Given the description of an element on the screen output the (x, y) to click on. 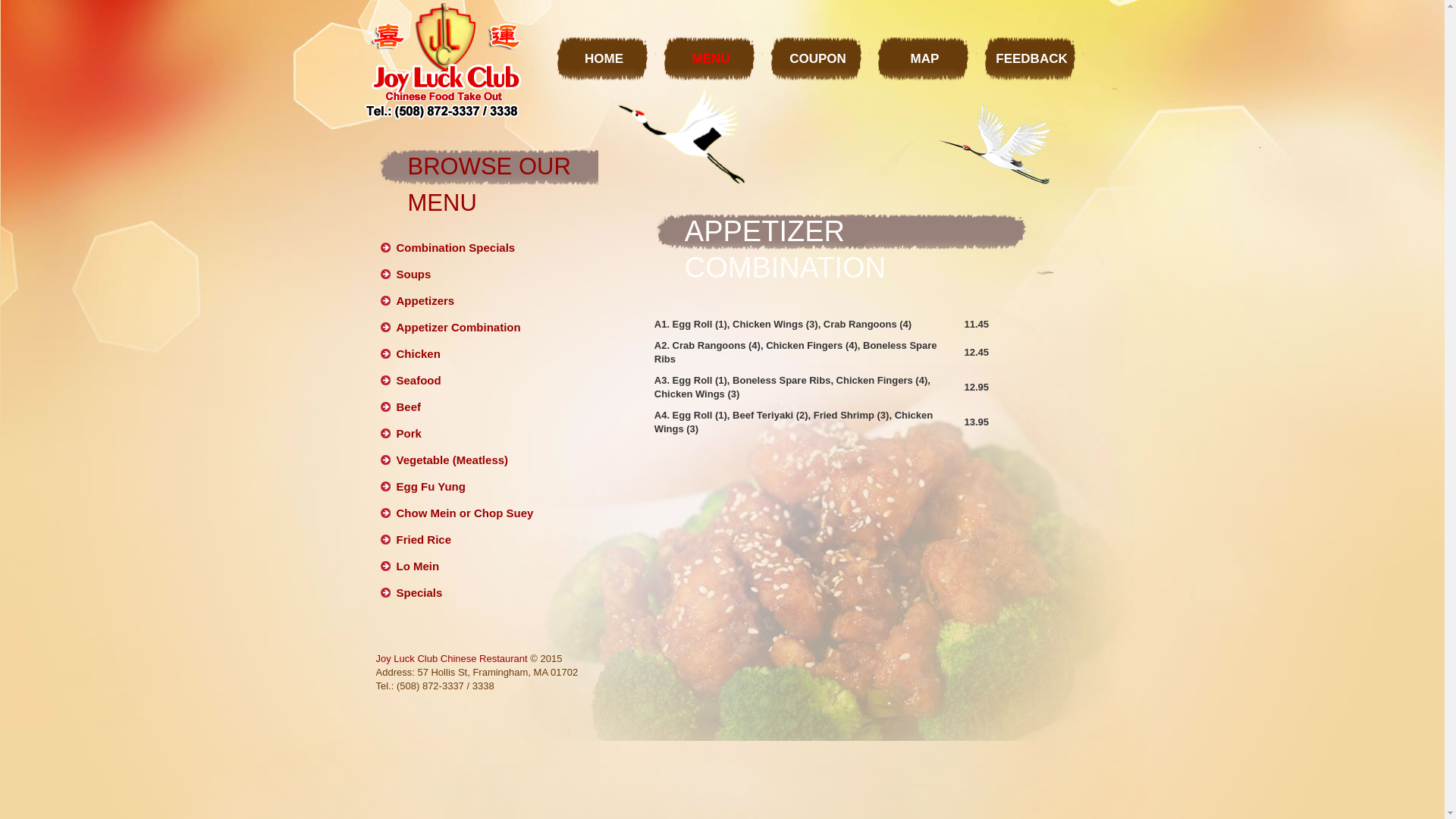
Beef Element type: text (407, 406)
Appetizer Combination Element type: text (457, 326)
Fried Rice Element type: text (423, 539)
Combination Specials Element type: text (454, 247)
Chicken Element type: text (417, 353)
Specials Element type: text (418, 592)
Chow Mein or Chop Suey Element type: text (464, 512)
COUPON Element type: text (817, 55)
Egg Fu Yung Element type: text (429, 486)
Joy Luck Club Chinese Restaurant, Framingham, MA 01702 Element type: hover (442, 61)
Appetizers Element type: text (424, 300)
Seafood Element type: text (417, 379)
Pork Element type: text (407, 432)
HOME Element type: text (603, 55)
Lo Mein Element type: text (417, 565)
MAP Element type: text (924, 55)
Joy Luck Club Chinese Restaurant Element type: text (451, 658)
Soups Element type: text (412, 273)
MENU Element type: text (710, 55)
Vegetable (Meatless) Element type: text (451, 459)
FEEDBACK Element type: text (1030, 55)
